Given the description of an element on the screen output the (x, y) to click on. 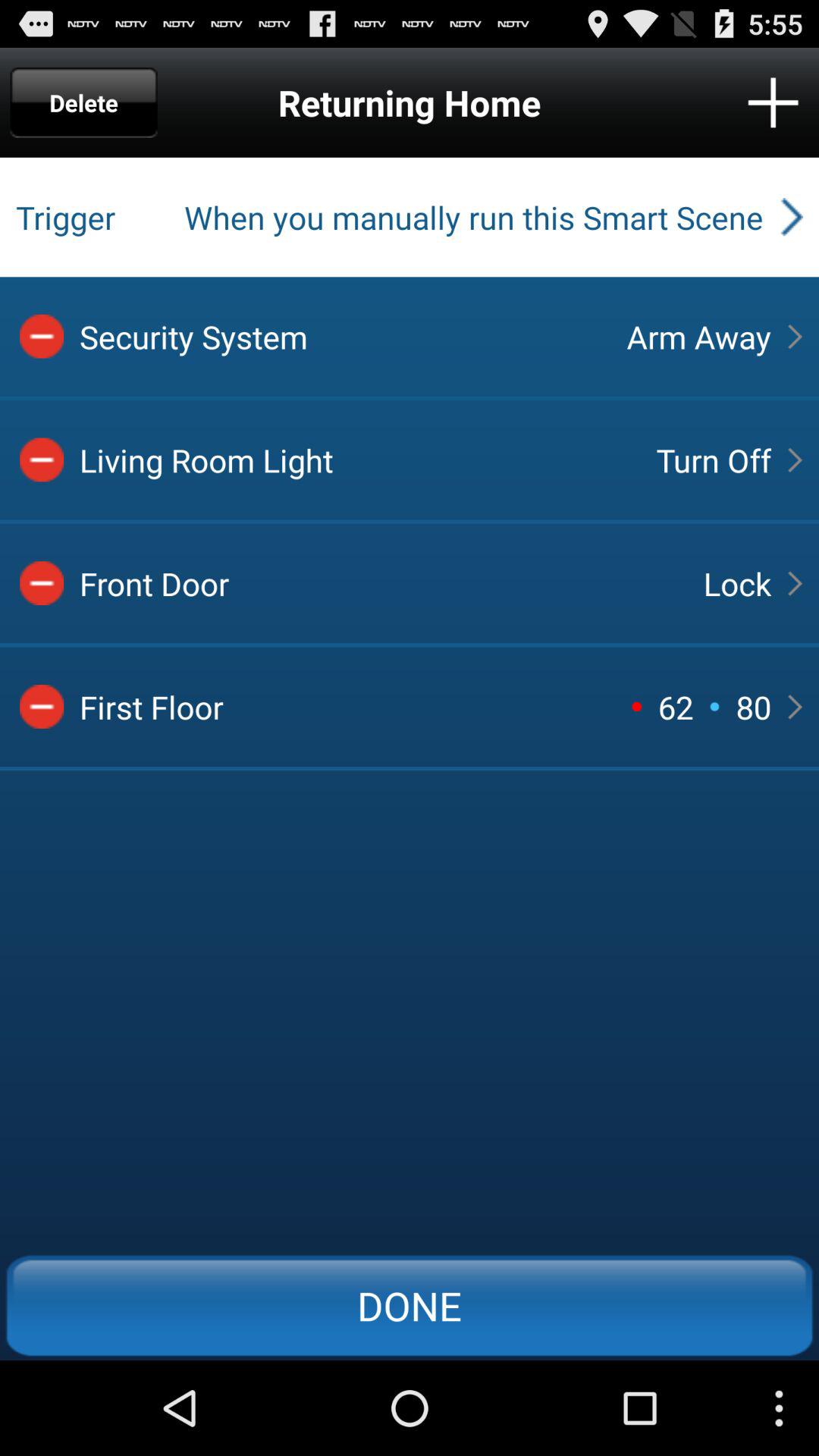
flip to the delete icon (83, 102)
